Given the description of an element on the screen output the (x, y) to click on. 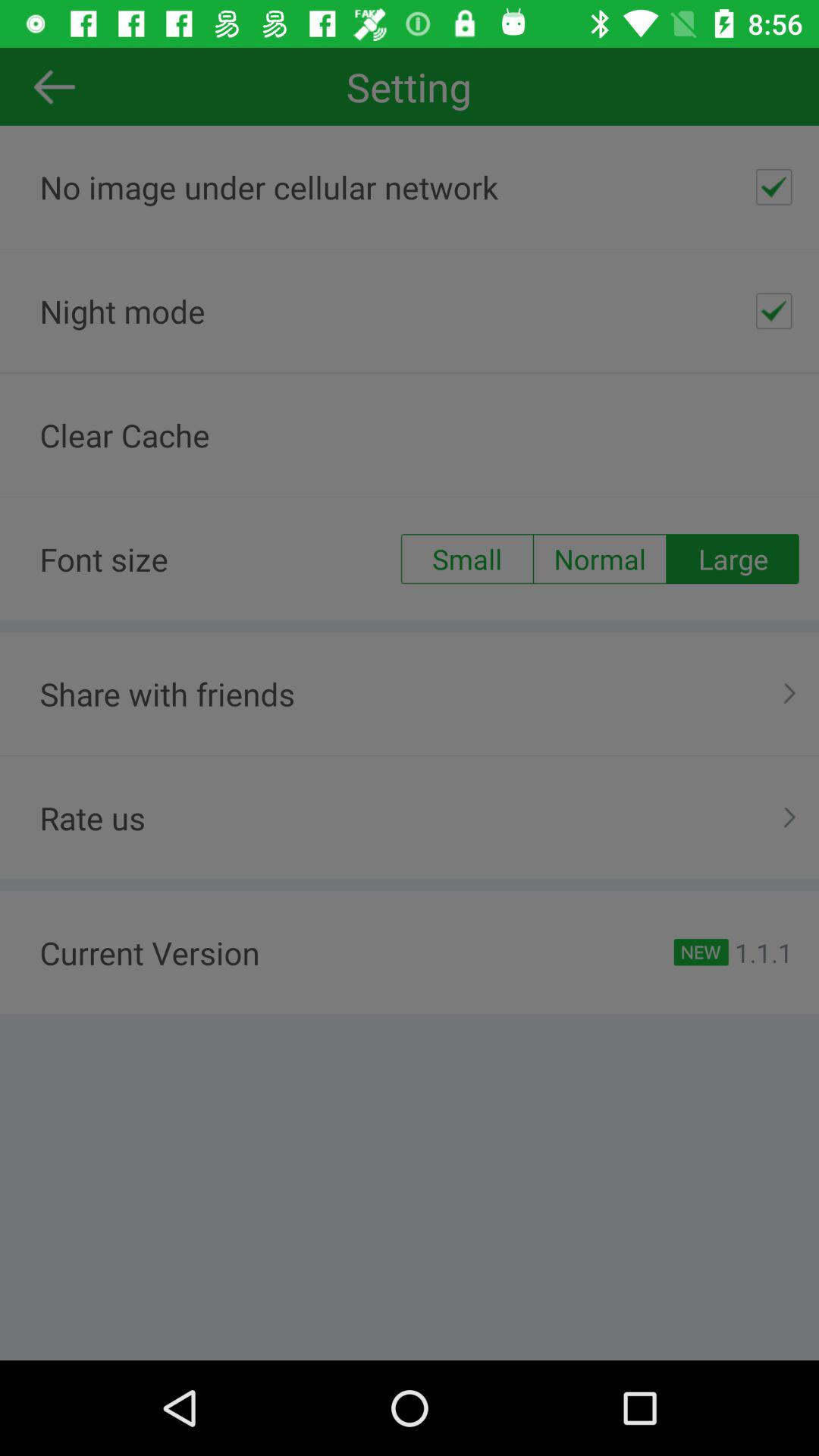
flip to large item (733, 559)
